Given the description of an element on the screen output the (x, y) to click on. 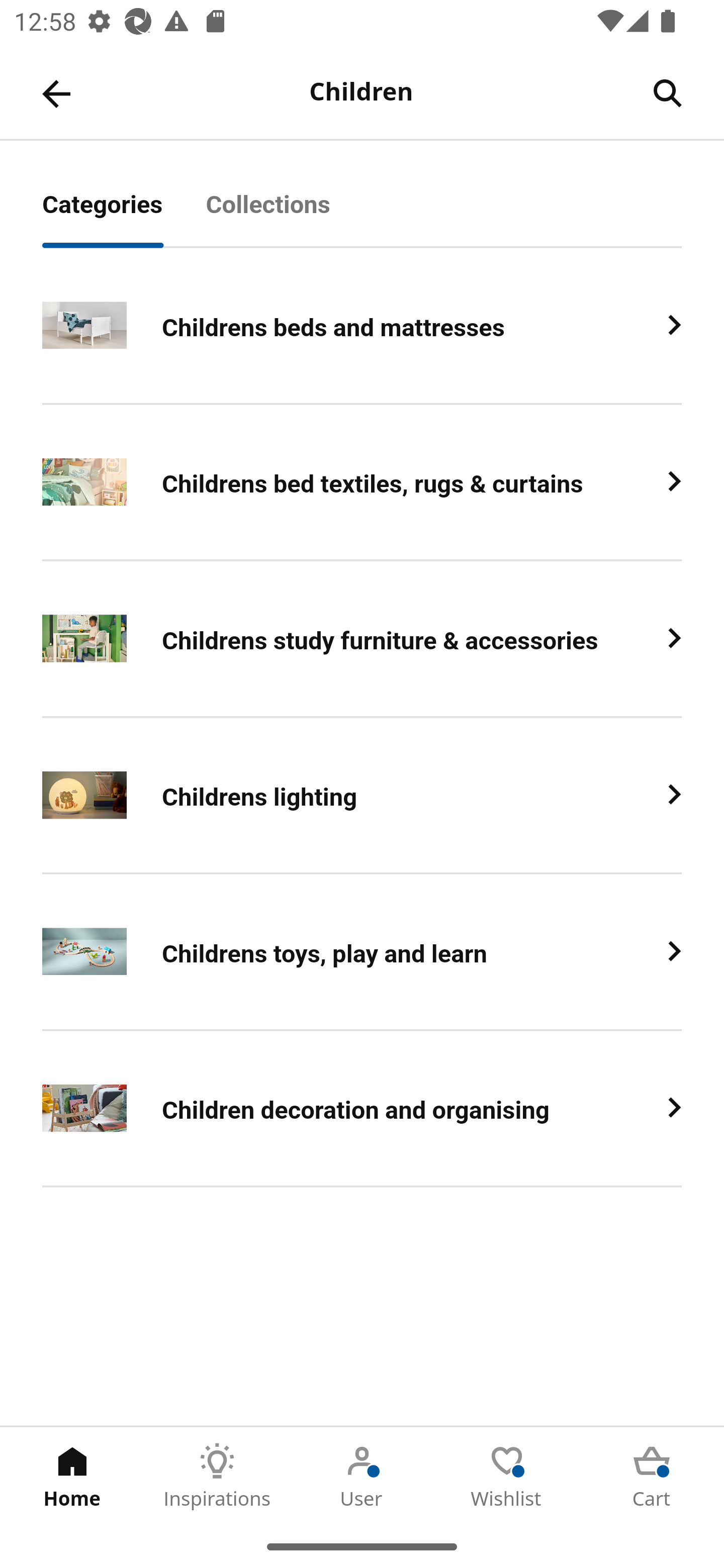
Categories
Tab 1 of 2 (123, 215)
Collections
Tab 2 of 2 (289, 215)
Childrens beds and mattresses (361, 325)
Childrens bed textiles, rugs & curtains (361, 482)
Childrens study furniture & accessories (361, 639)
Childrens lighting (361, 796)
Childrens toys, play and learn (361, 952)
Children decoration and organising (361, 1108)
Home
Tab 1 of 5 (72, 1476)
Inspirations
Tab 2 of 5 (216, 1476)
User
Tab 3 of 5 (361, 1476)
Wishlist
Tab 4 of 5 (506, 1476)
Cart
Tab 5 of 5 (651, 1476)
